Given the description of an element on the screen output the (x, y) to click on. 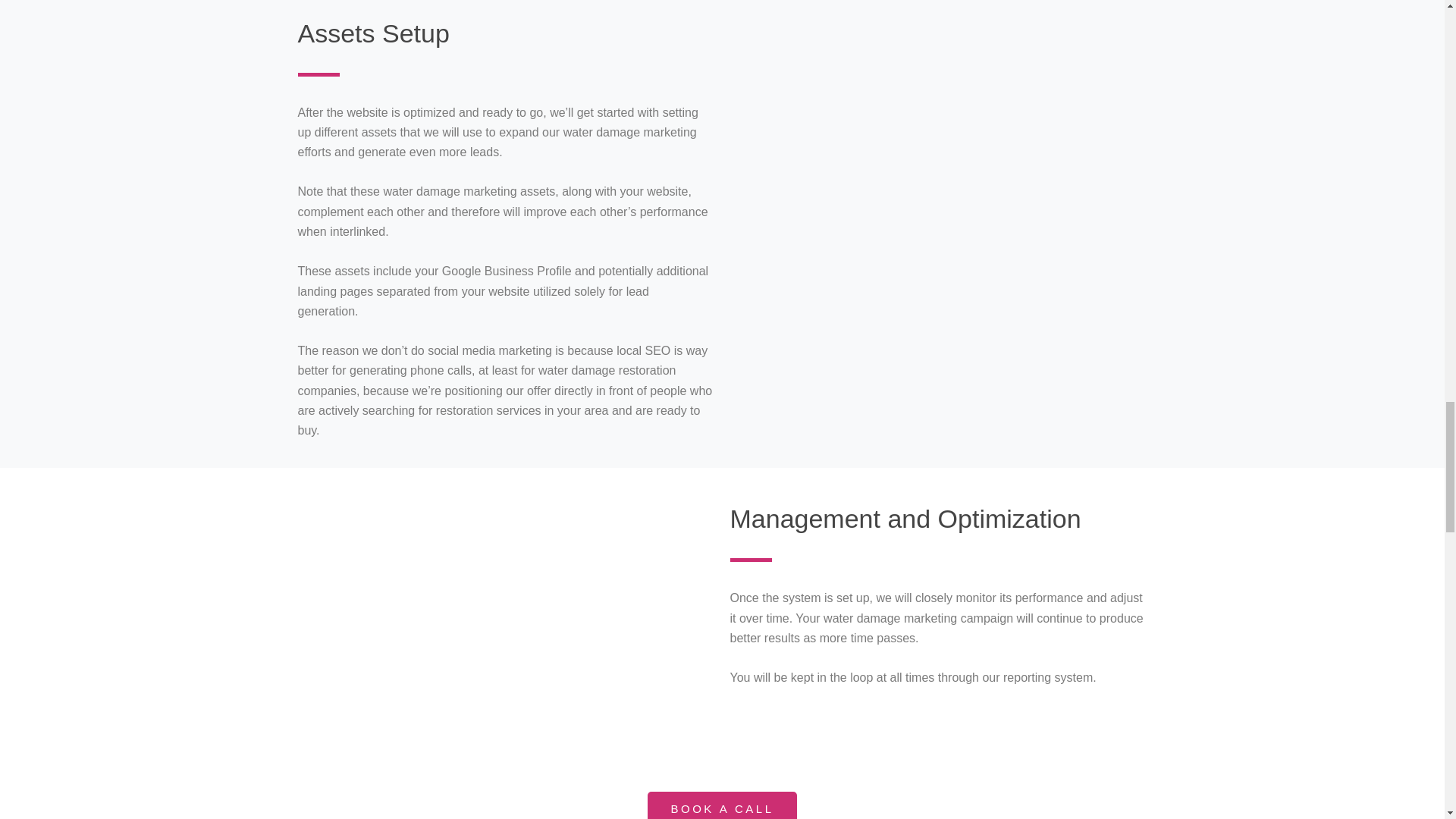
BOOK A CALL (721, 805)
